Given the description of an element on the screen output the (x, y) to click on. 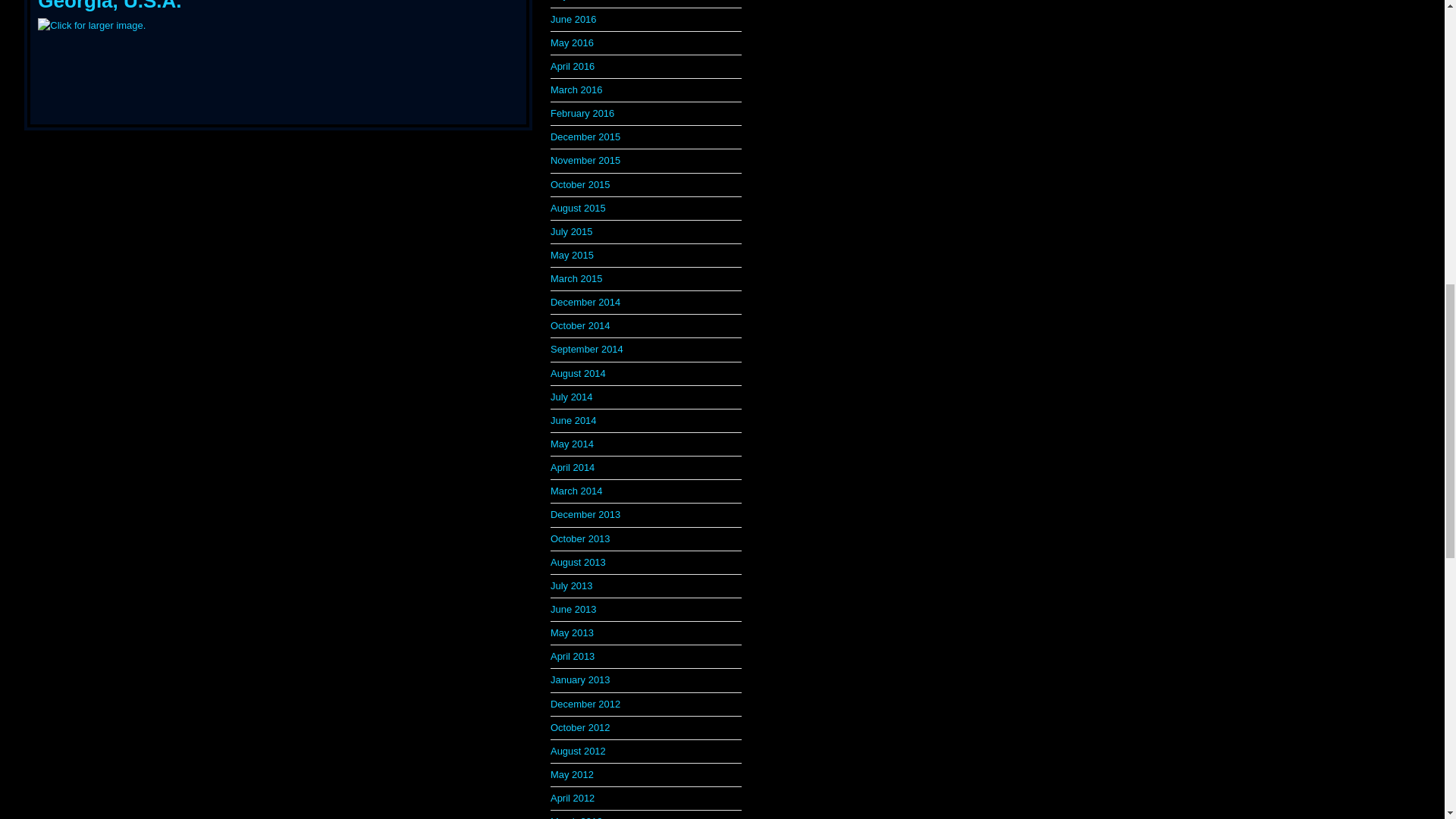
April 2016 (572, 66)
July 2016 (571, 0)
June 2016 (573, 19)
March 2016 (576, 89)
February 2016 (582, 112)
May 2016 (572, 42)
